Given the description of an element on the screen output the (x, y) to click on. 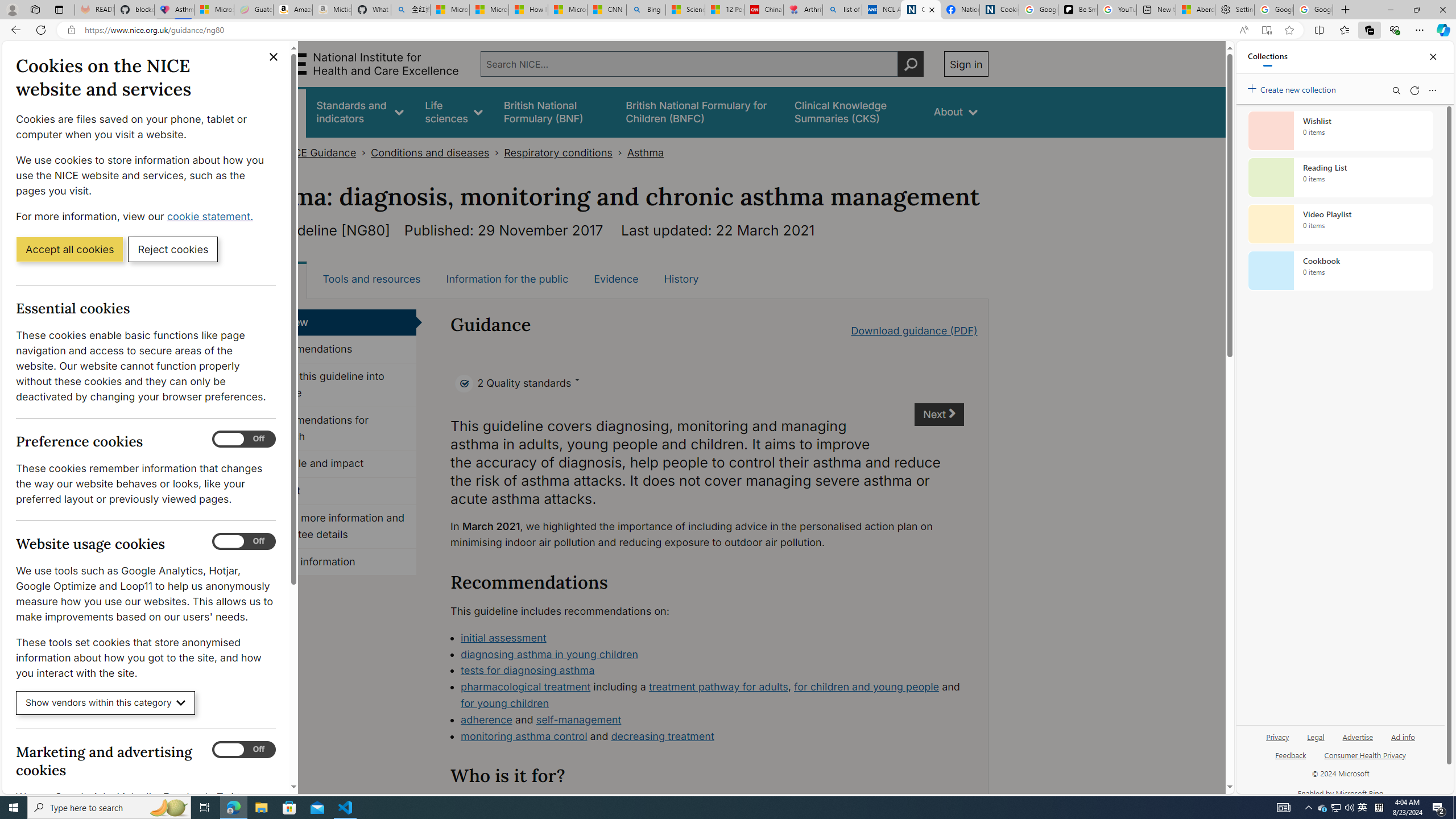
Wishlist collection, 0 items (1339, 130)
diagnosing asthma in young children (549, 653)
Rationale and impact (333, 463)
cookie statement. (Opens in a new window) (211, 215)
Respiratory conditions (557, 152)
Reject cookies (173, 248)
for children and young people (866, 686)
Cookies (999, 9)
